Given the description of an element on the screen output the (x, y) to click on. 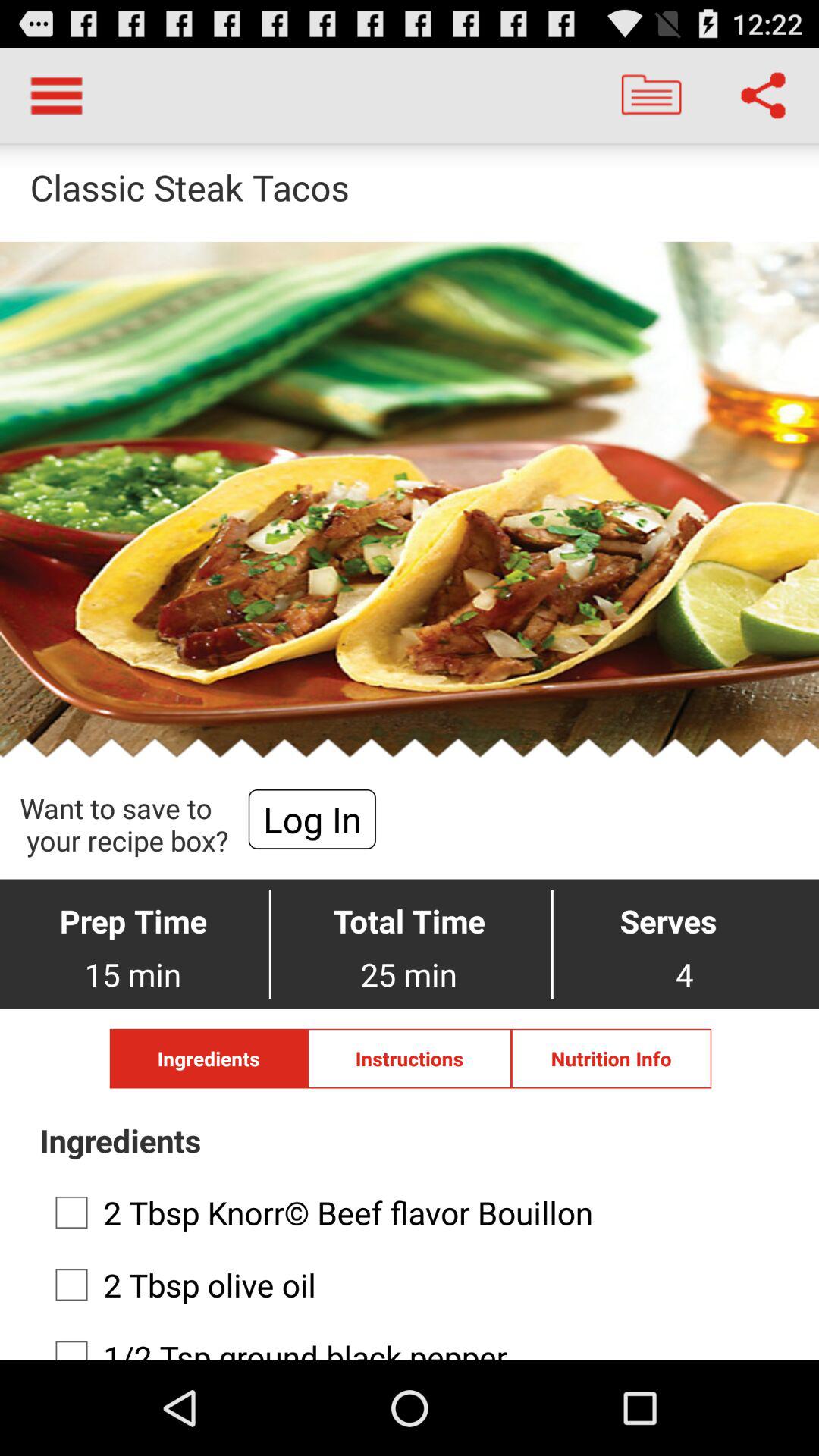
press item to the right of the ingredients button (409, 1058)
